Given the description of an element on the screen output the (x, y) to click on. 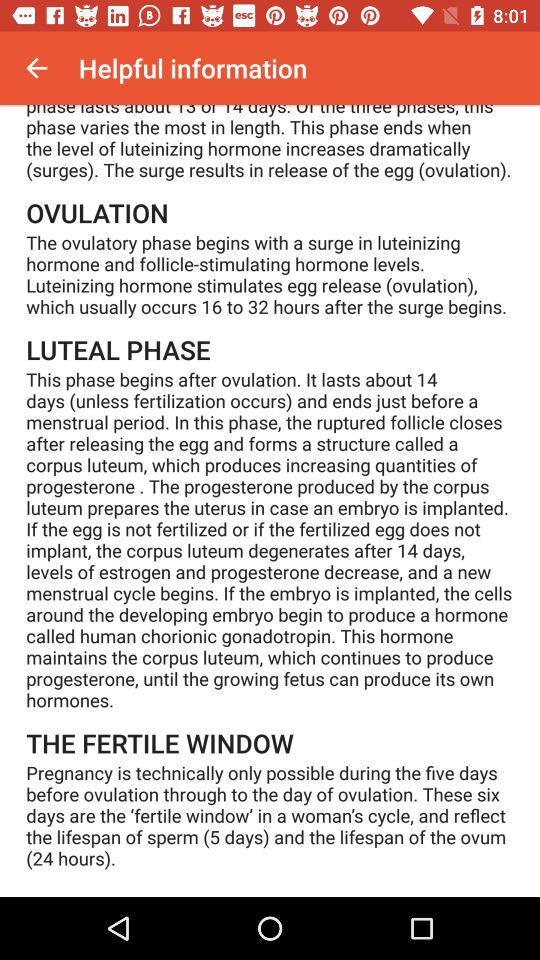
select the item next to helpful information item (36, 68)
